Given the description of an element on the screen output the (x, y) to click on. 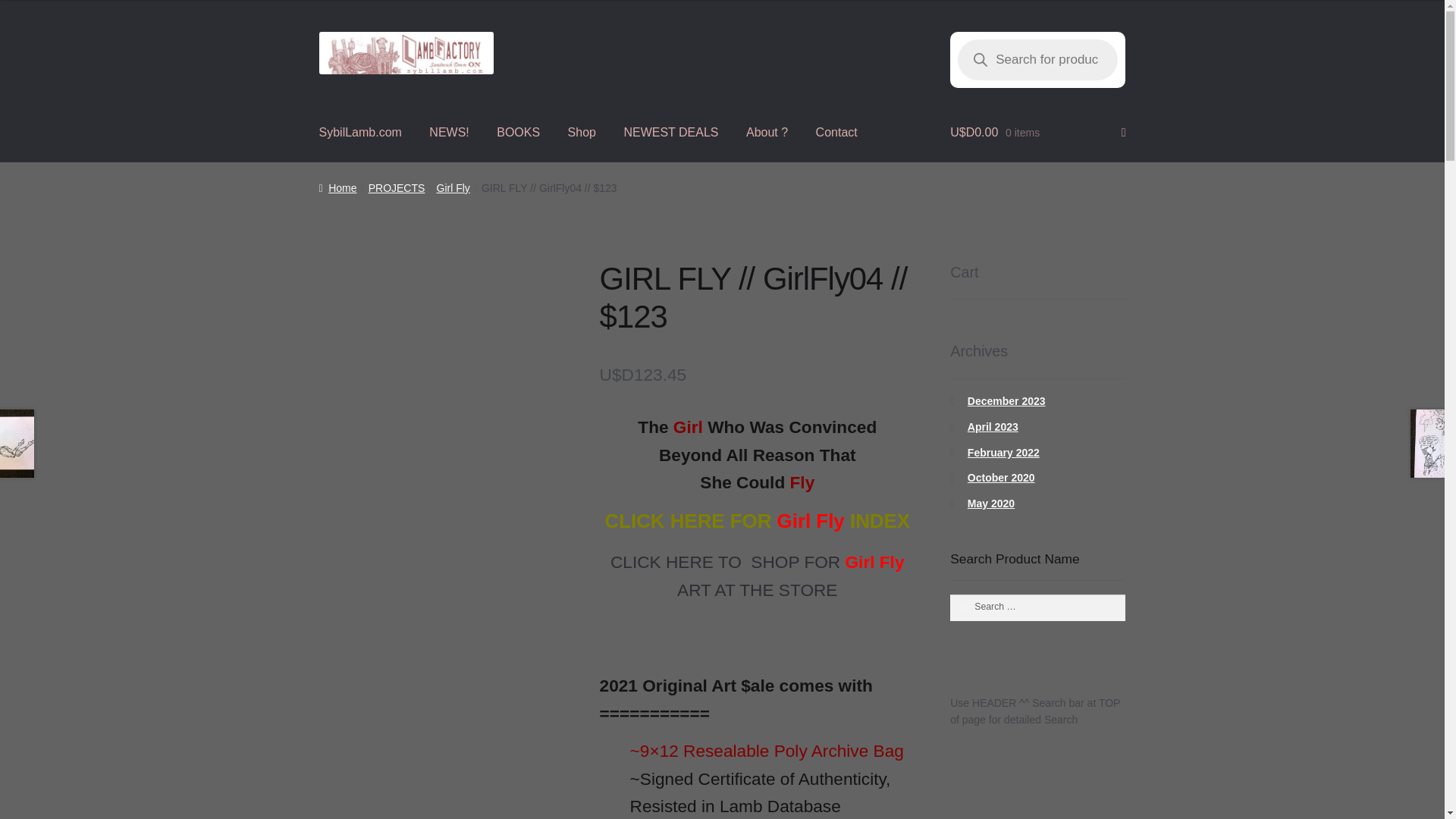
Girl Fly (453, 187)
Contact (836, 132)
INDEX (880, 520)
CLICK HERE FOR (690, 520)
NEWS! (448, 132)
BOOKS (517, 132)
About ? (766, 132)
CLICK HERE TO  SHOP FOR (727, 561)
